Given the description of an element on the screen output the (x, y) to click on. 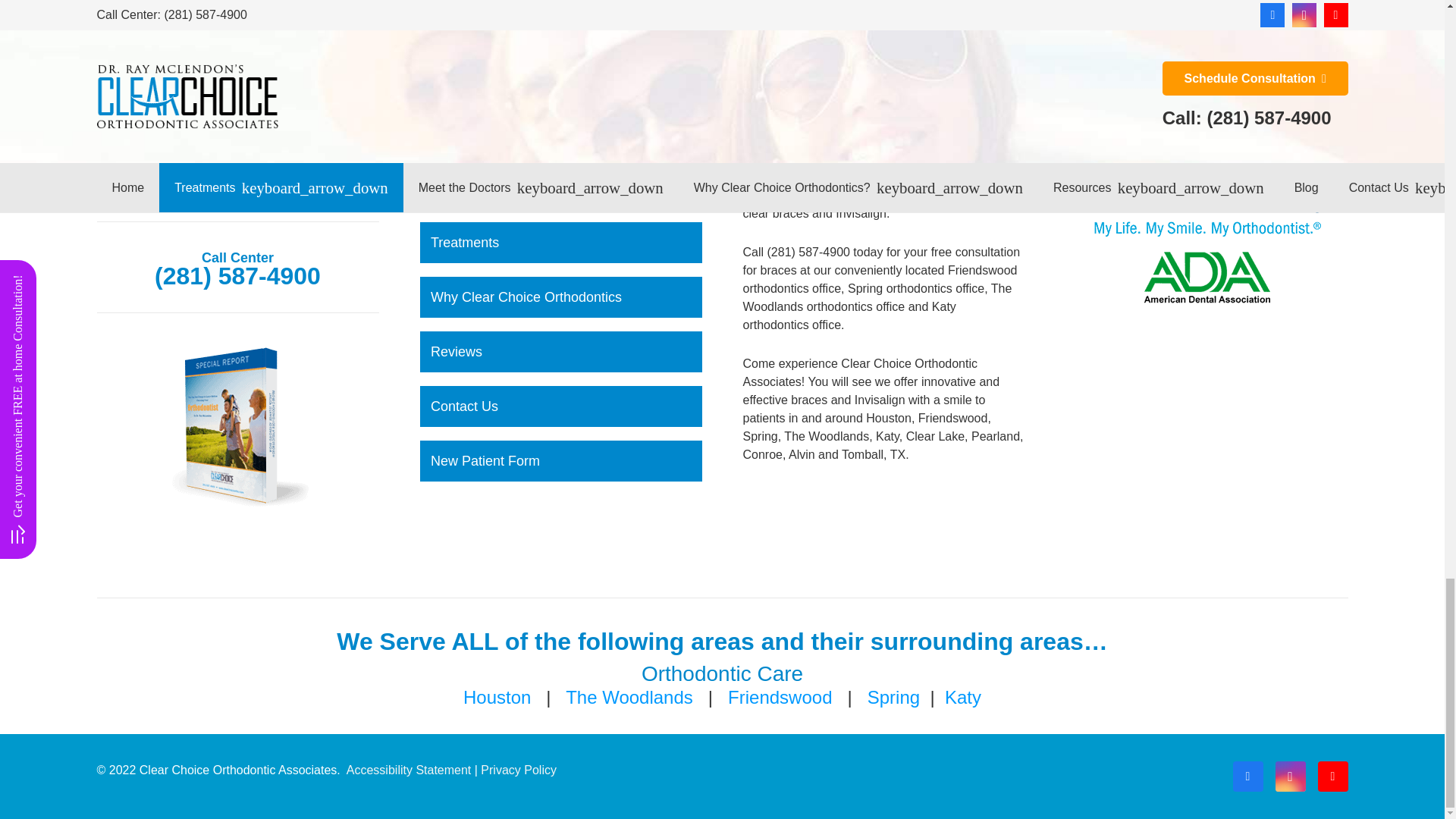
Facebook (1248, 776)
Instagram (1290, 776)
YouTube (1332, 776)
